Given the description of an element on the screen output the (x, y) to click on. 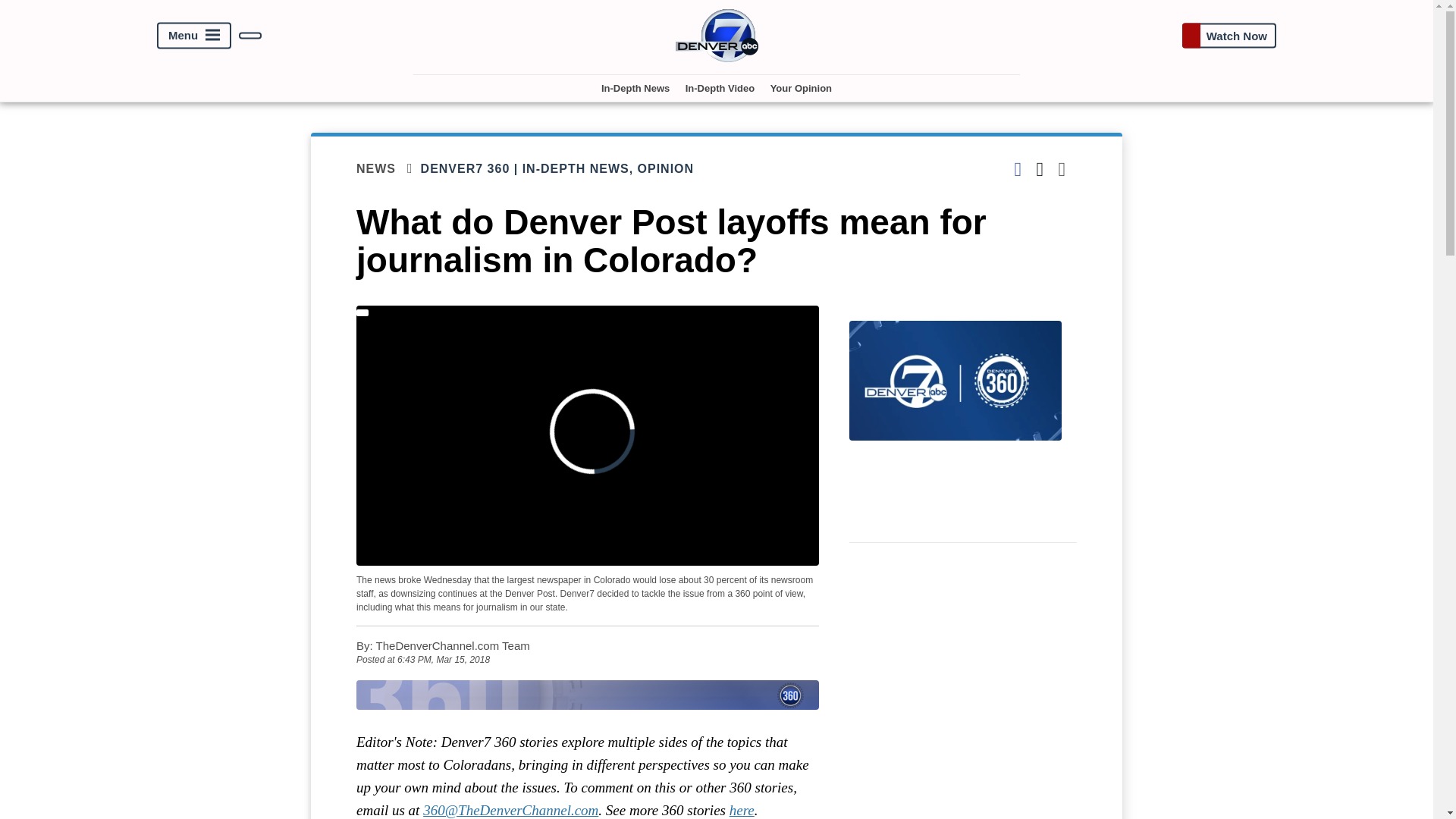
Menu (194, 35)
Watch Now (1228, 34)
